Given the description of an element on the screen output the (x, y) to click on. 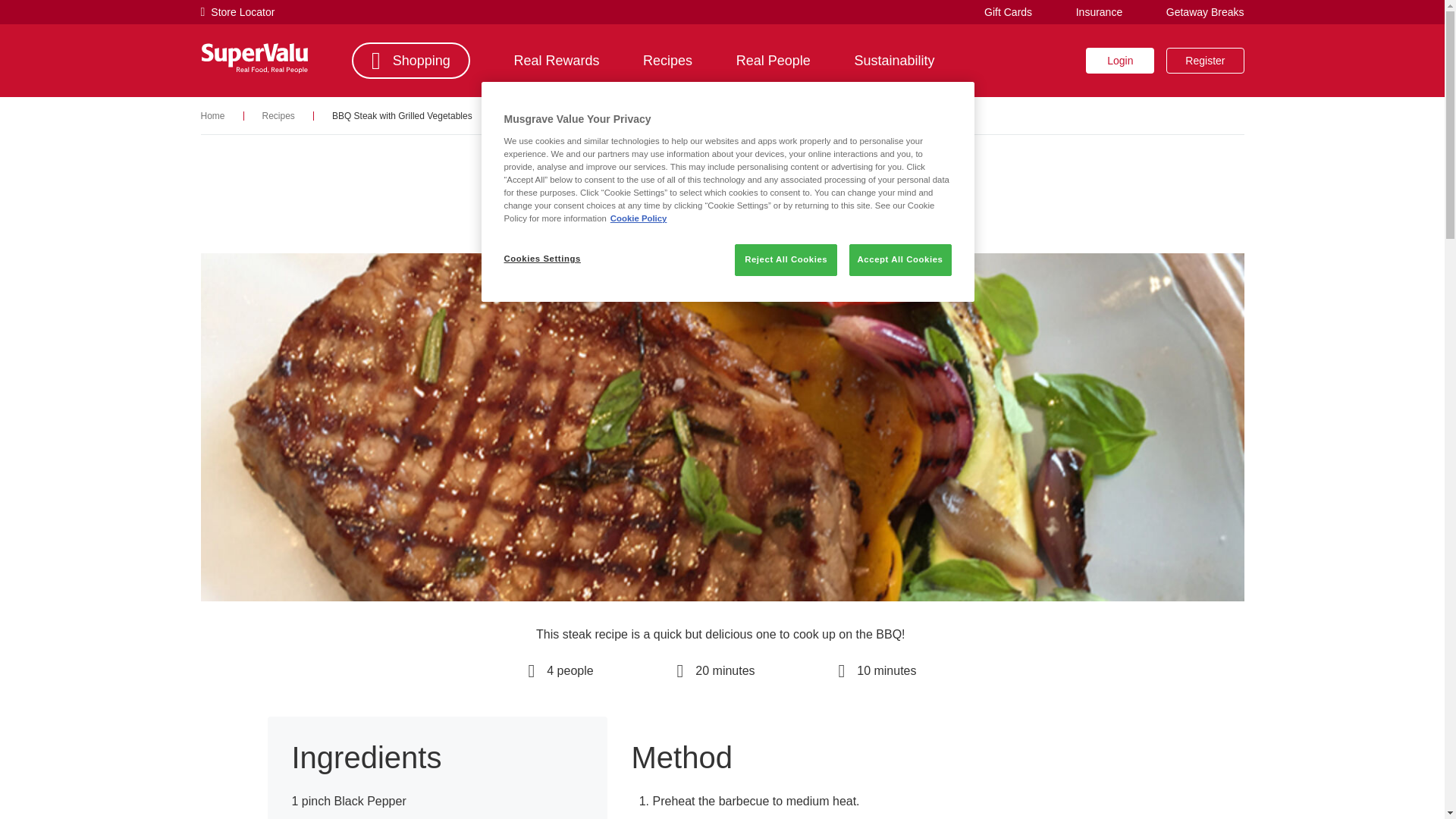
Recipes (668, 60)
Home (212, 115)
Getaway Breaks (1205, 11)
Shopping (411, 60)
Login (1120, 60)
Log in (1120, 60)
Real Rewards (555, 60)
Sustainability (893, 60)
Real People (773, 60)
Insurance (1098, 11)
Register (1204, 60)
Gift Cards (1008, 11)
Register (1204, 60)
Recipes (278, 115)
Store Locator (237, 12)
